Given the description of an element on the screen output the (x, y) to click on. 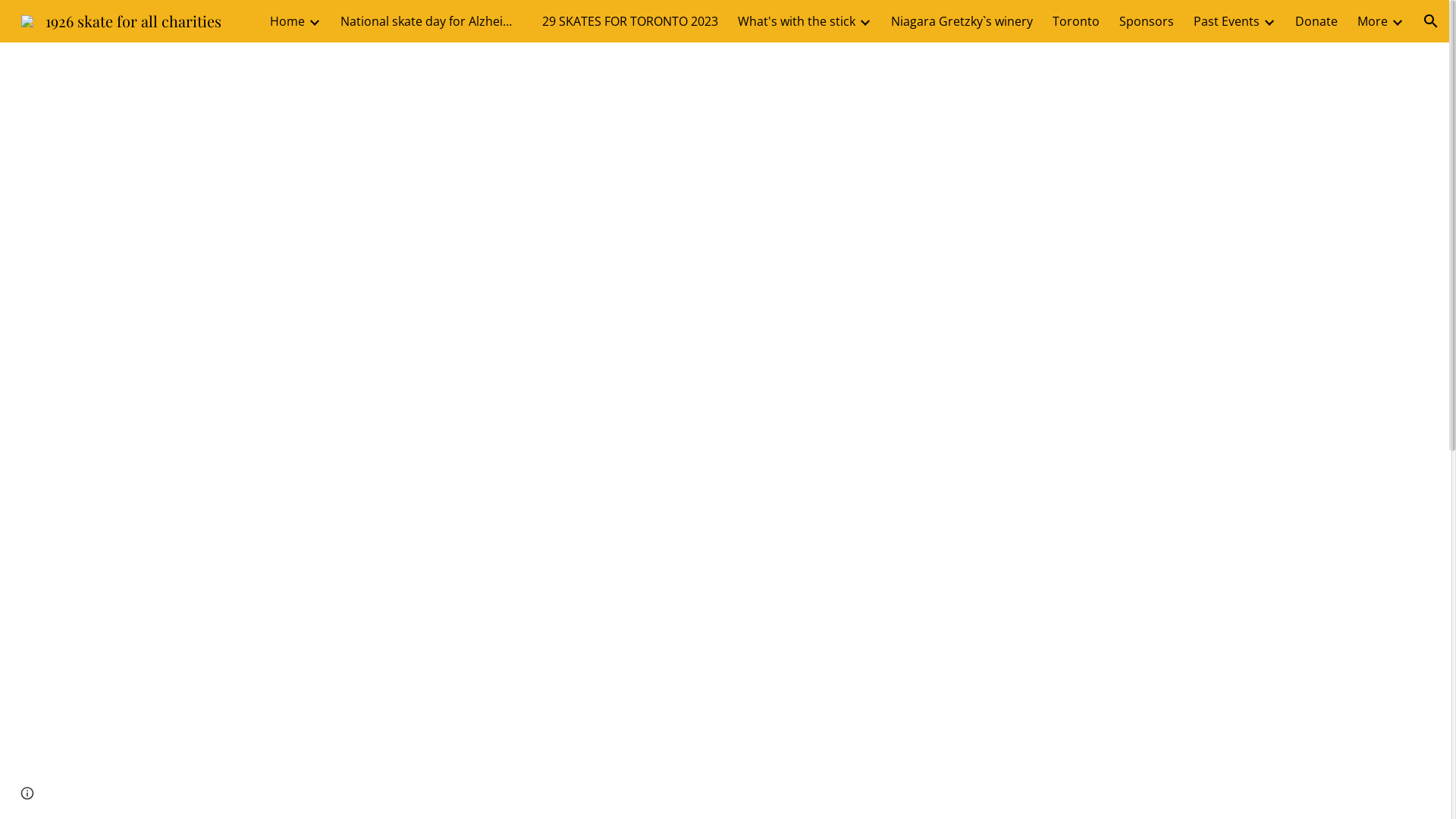
Expand/Collapse Element type: hover (313, 20)
Donate Element type: text (1316, 20)
Sponsors Element type: text (1146, 20)
Expand/Collapse Element type: hover (1396, 20)
Home Element type: text (286, 20)
Past Events Element type: text (1226, 20)
29 SKATES FOR TORONTO 2023 Element type: text (630, 20)
Expand/Collapse Element type: hover (1268, 20)
Niagara Gretzky`s winery Element type: text (961, 20)
Expand/Collapse Element type: hover (864, 20)
Toronto Element type: text (1075, 20)
National skate day for Alzheimer,s Element type: text (431, 20)
What's with the stick Element type: text (796, 20)
More Element type: text (1372, 20)
1926 skate for all charities Element type: text (121, 18)
